Given the description of an element on the screen output the (x, y) to click on. 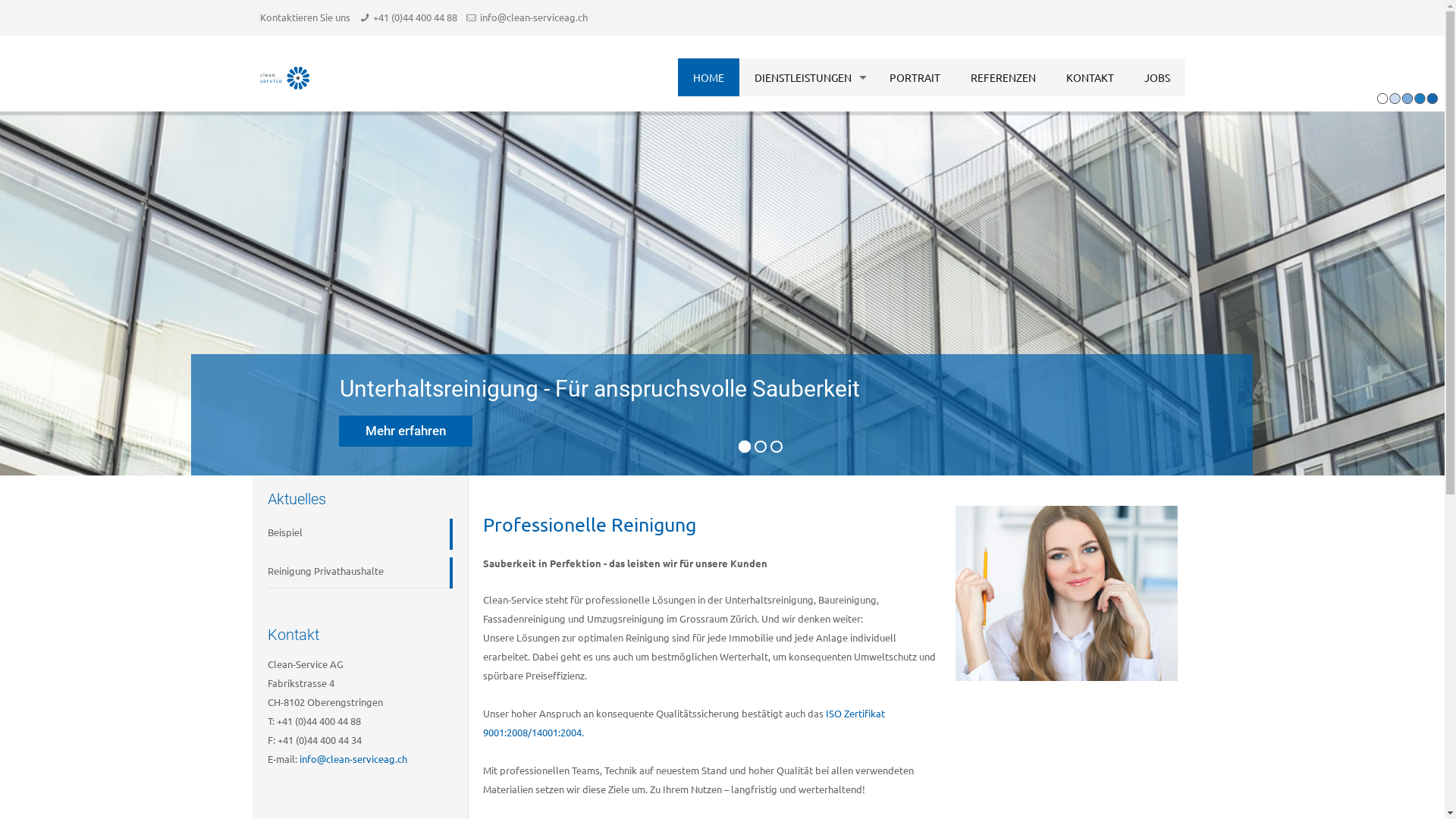
Reinigung Privathaushalte Element type: text (353, 571)
KONTAKT Element type: text (1090, 77)
REFERENZEN Element type: text (1003, 77)
DIENSTLEISTUNGEN Element type: text (805, 77)
Beispiel Element type: text (353, 532)
our_team_1 Element type: hover (1066, 592)
+41 (0)44 400 44 88 Element type: text (415, 16)
Mehr erfahren Element type: text (405, 430)
HOME Element type: text (708, 77)
info@clean-serviceag.ch Element type: text (352, 758)
info@clean-serviceag.ch Element type: text (533, 16)
PORTRAIT Element type: text (913, 77)
ISO Zertifikat 9001:2008/14001:2004. Element type: text (683, 722)
JOBS Element type: text (1156, 77)
